Given the description of an element on the screen output the (x, y) to click on. 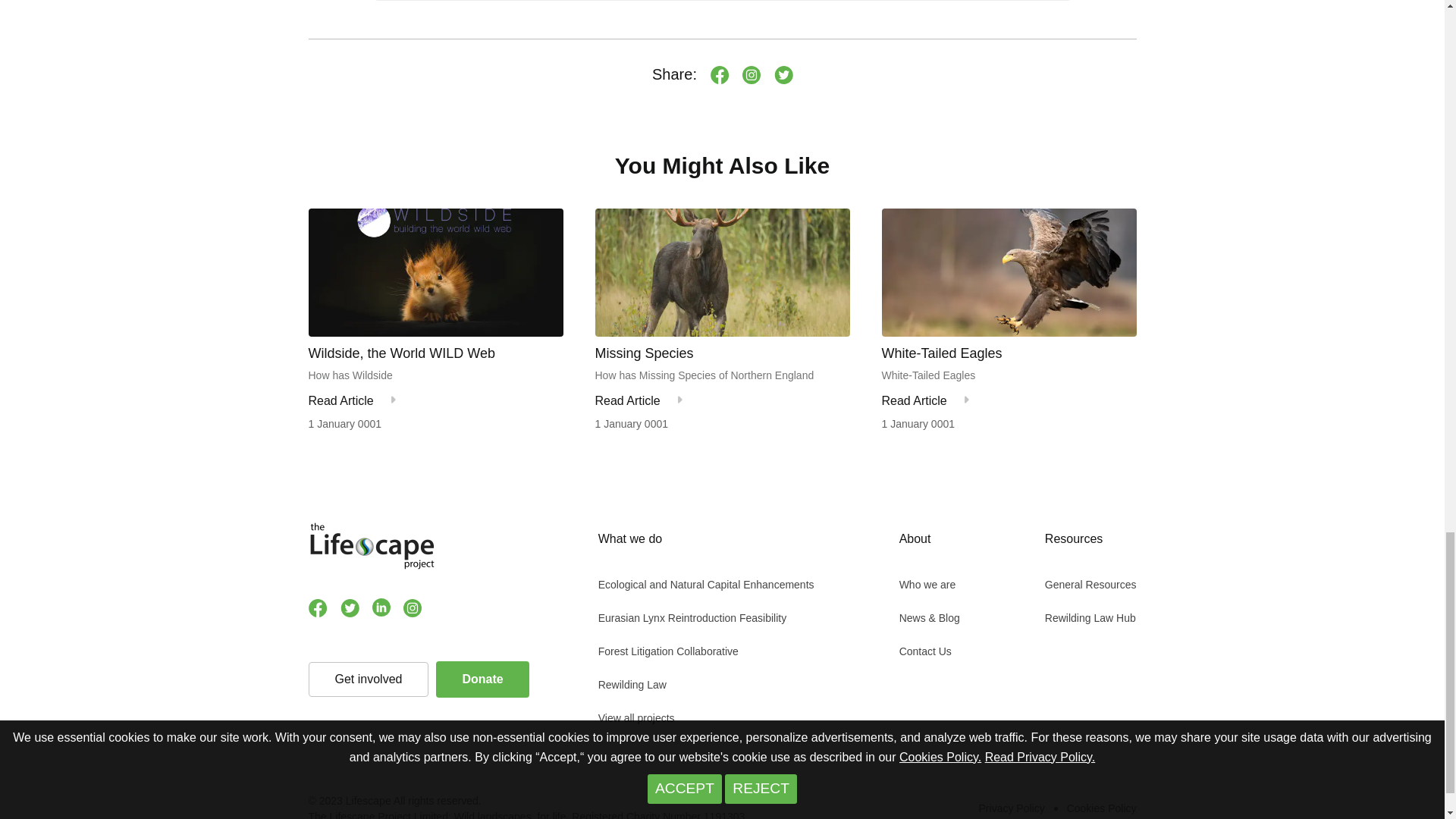
Missing Species (721, 353)
White-Tailed Eagles (1007, 353)
Read Article (339, 400)
Wildside, the World WILD Web (434, 353)
Read Article (626, 400)
Read Article (913, 400)
